Given the description of an element on the screen output the (x, y) to click on. 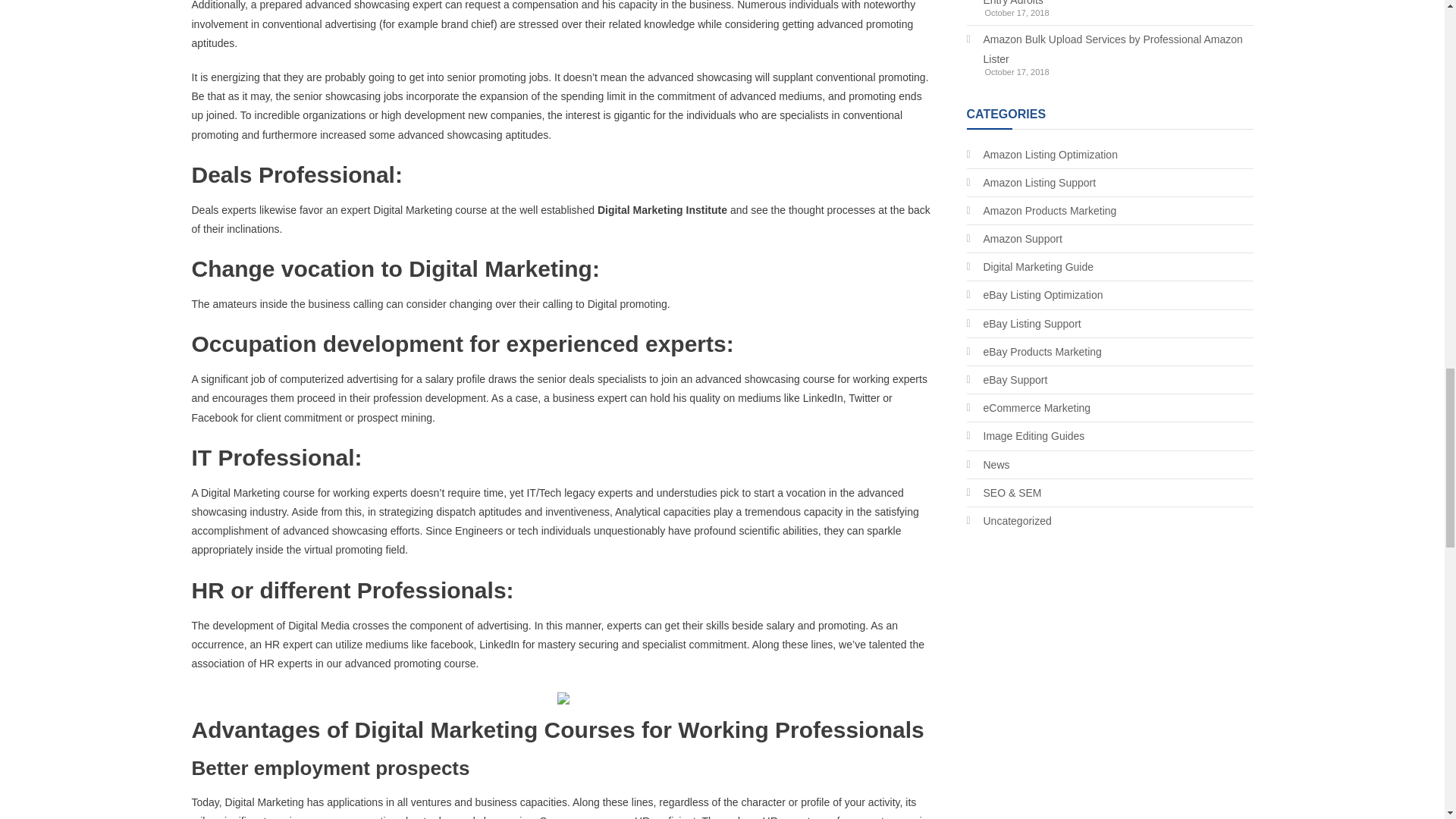
SEO Per Hour Cost - SEOServiceinIndia (562, 697)
